Given the description of an element on the screen output the (x, y) to click on. 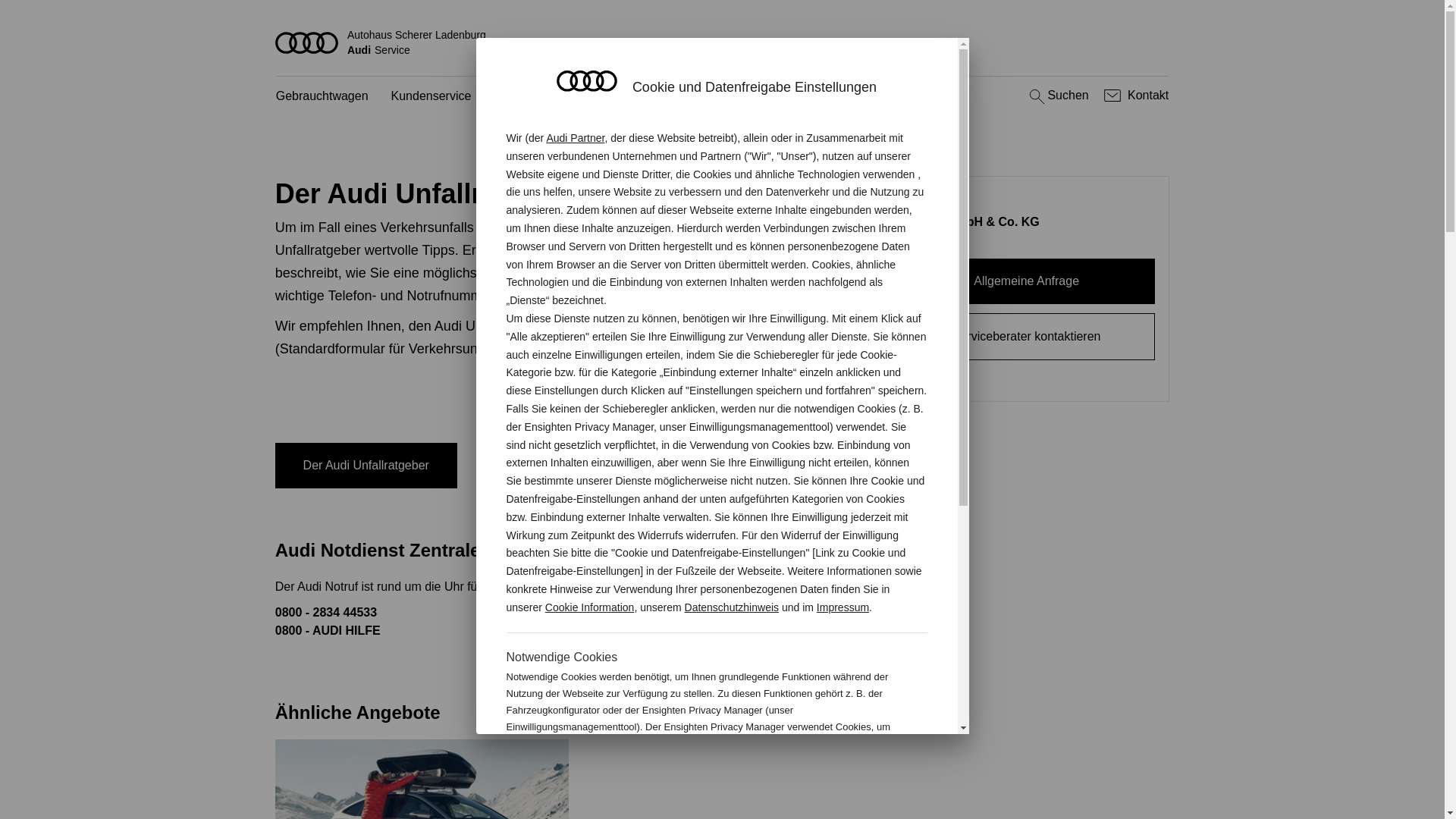
Audi Partner Element type: text (575, 137)
Allgemeine Anfrage Element type: text (1025, 281)
Datenschutzhinweis Element type: text (731, 607)
Impressum Element type: text (842, 607)
Cookie Information Element type: text (589, 607)
Suchen Element type: text (1056, 95)
Kundenservice Element type: text (431, 96)
Serviceberater kontaktieren Element type: text (1025, 336)
Gebrauchtwagen Element type: text (322, 96)
Cookie Information Element type: text (847, 776)
Kontakt Element type: text (1134, 95)
Autohaus Scherer Ladenburg
AudiService Element type: text (722, 42)
Der Audi Unfallratgeber Element type: text (366, 465)
